Given the description of an element on the screen output the (x, y) to click on. 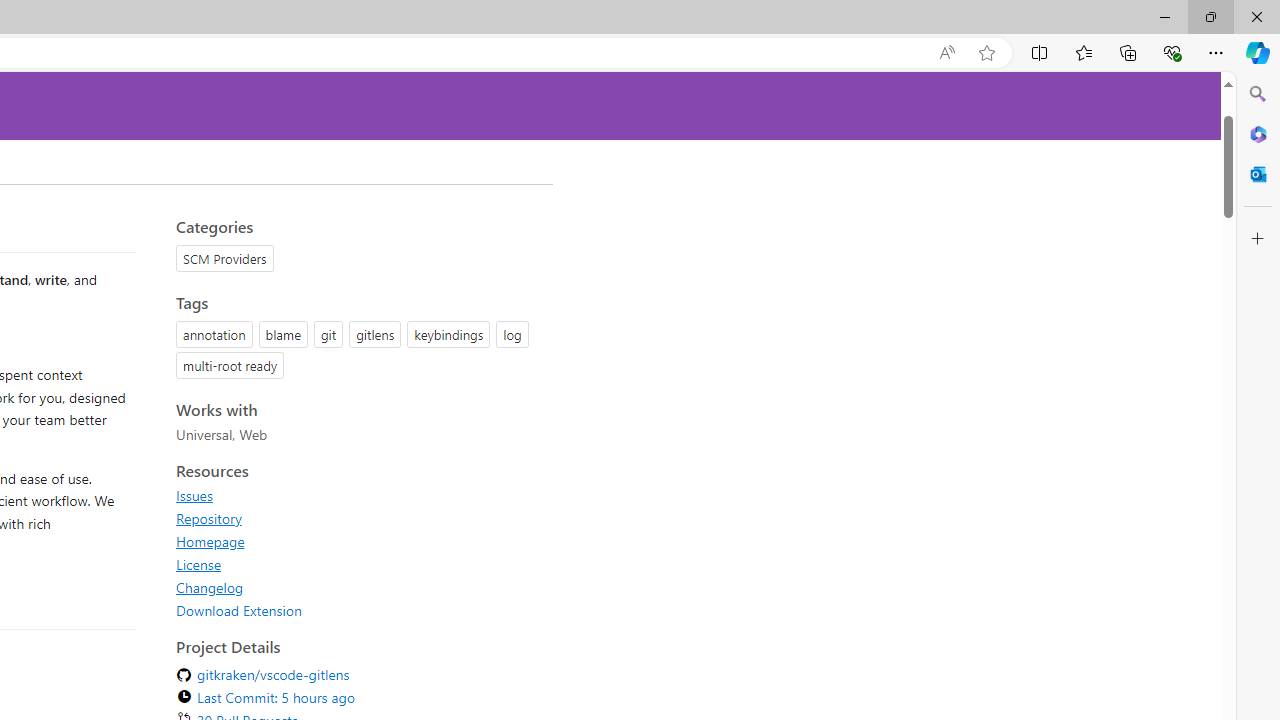
Restore (1210, 16)
Repository (358, 518)
License (358, 564)
Repository (208, 518)
Outlook (1258, 174)
Split screen (1039, 52)
License (198, 564)
Favorites (1083, 52)
Browser essentials (1171, 52)
Collections (1128, 52)
Add this page to favorites (Ctrl+D) (986, 53)
